Given the description of an element on the screen output the (x, y) to click on. 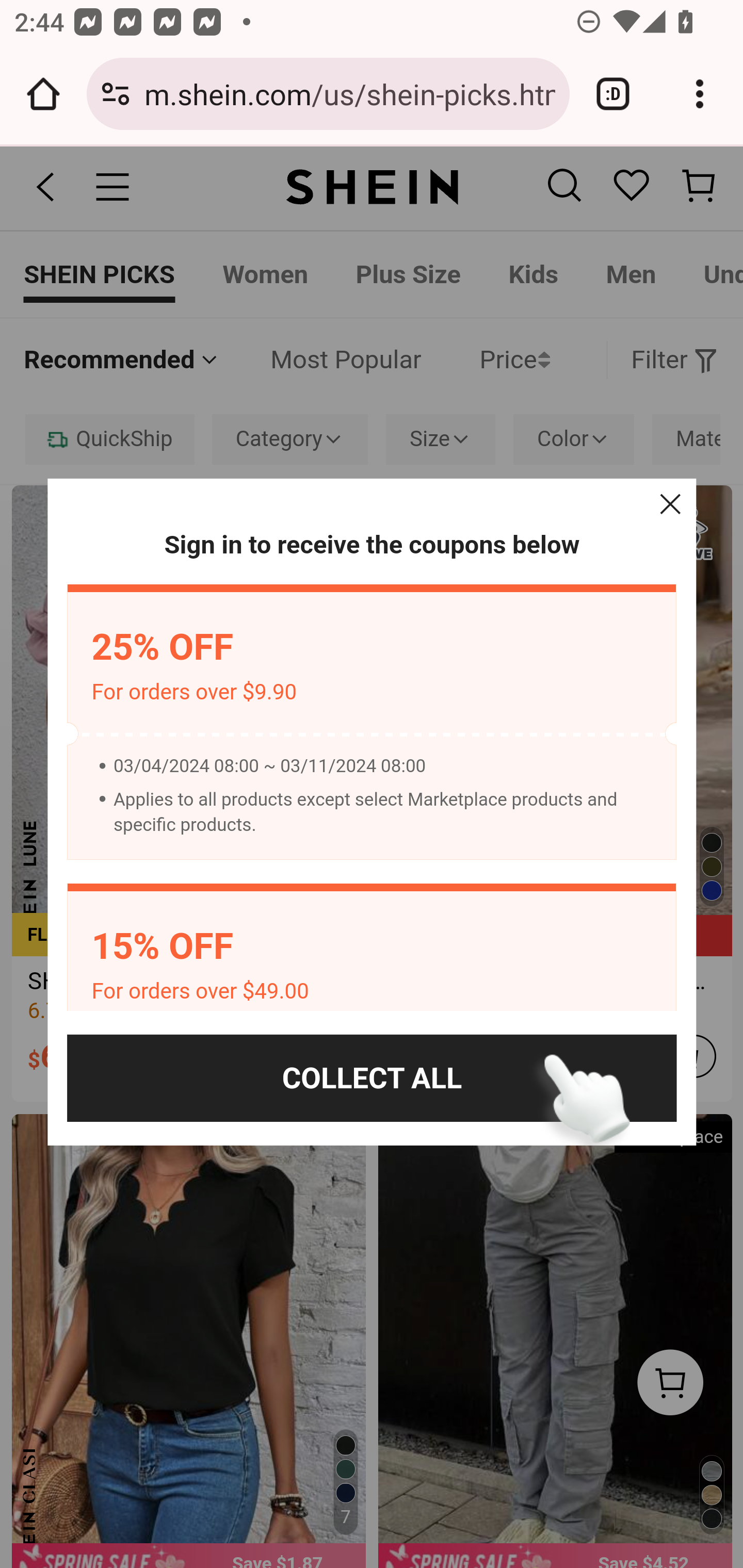
Open the home page (43, 93)
Connection is secure (115, 93)
Switch or close tabs (612, 93)
Customize and control Google Chrome (699, 93)
Close (669, 503)
COLLECT ALL (371, 1077)
